Given the description of an element on the screen output the (x, y) to click on. 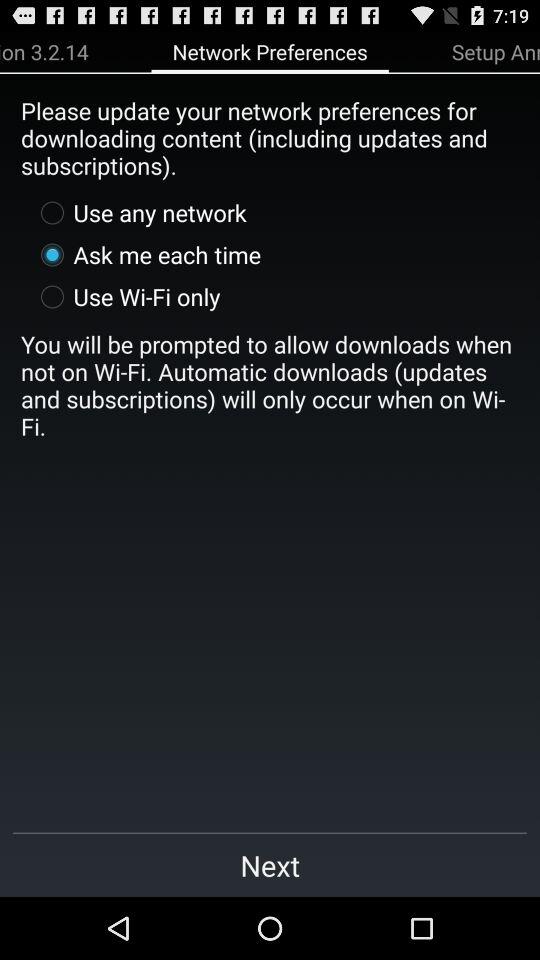
launch the icon at the top right corner (495, 51)
